Given the description of an element on the screen output the (x, y) to click on. 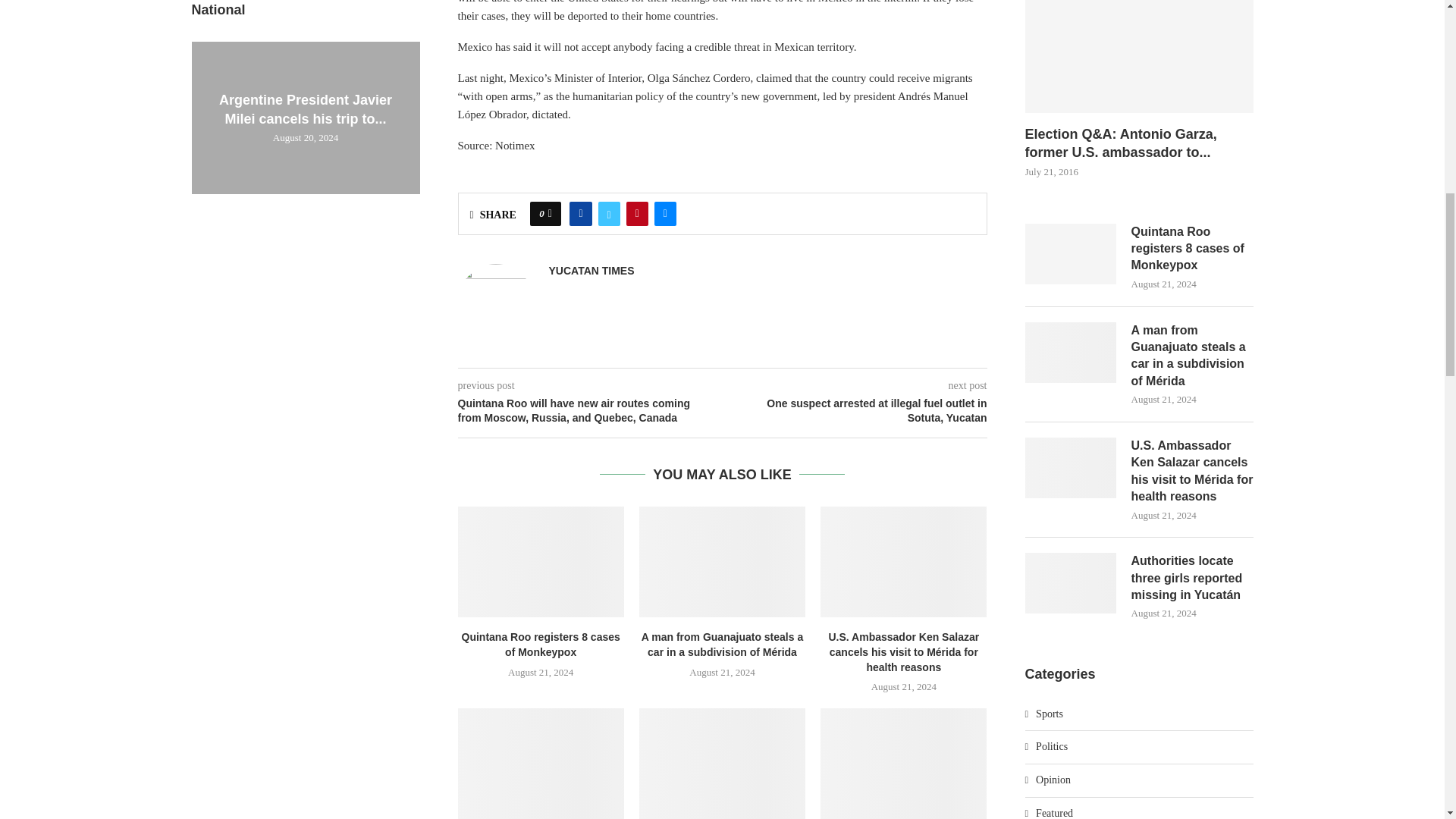
Quintana Roo registers 8 cases of Monkeypox (541, 561)
Author Yucatan Times (591, 270)
Exhibitionist caught in the middle of the Tetiz fair (904, 763)
